Given the description of an element on the screen output the (x, y) to click on. 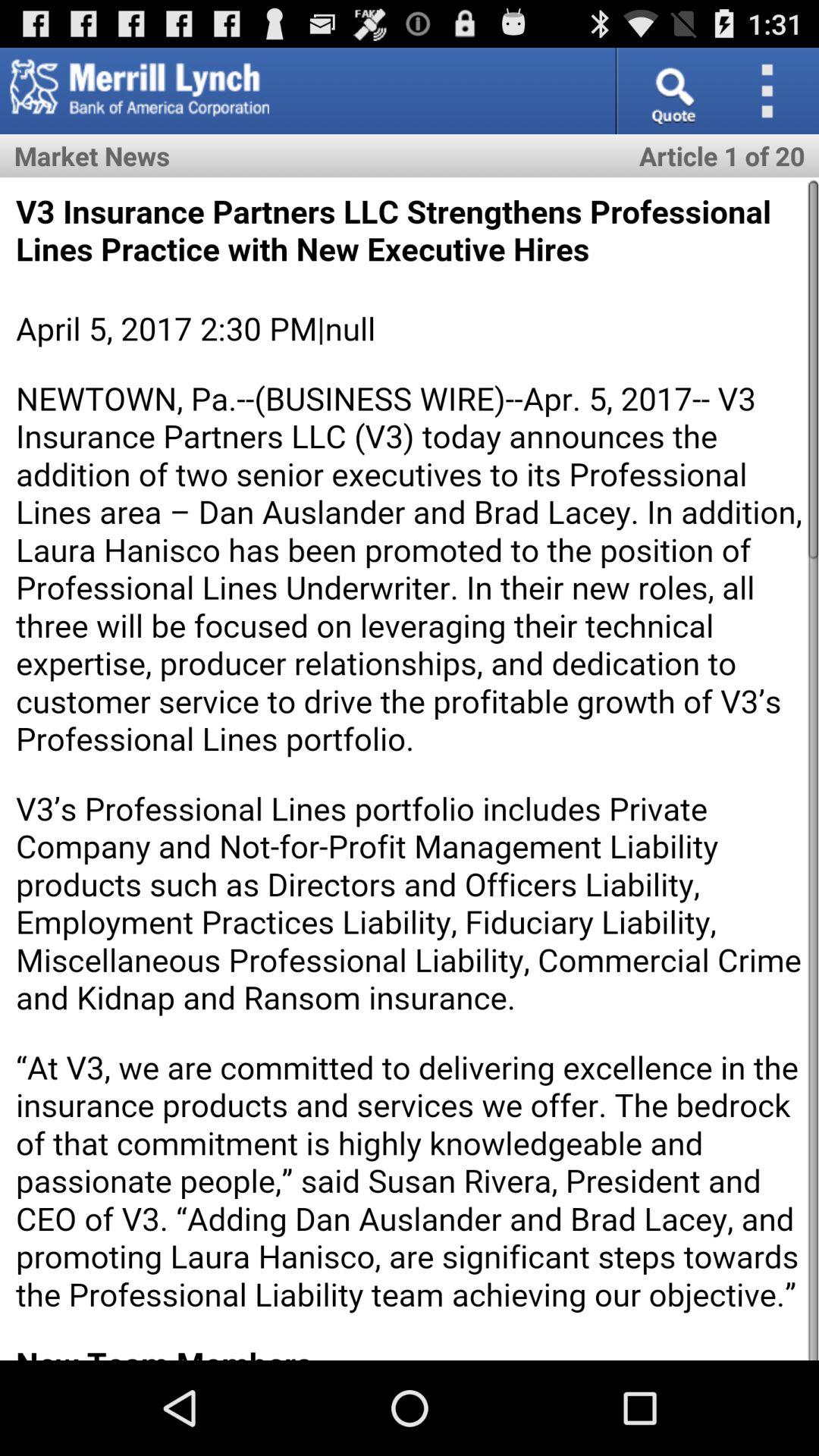
customize chrome button (772, 90)
